Given the description of an element on the screen output the (x, y) to click on. 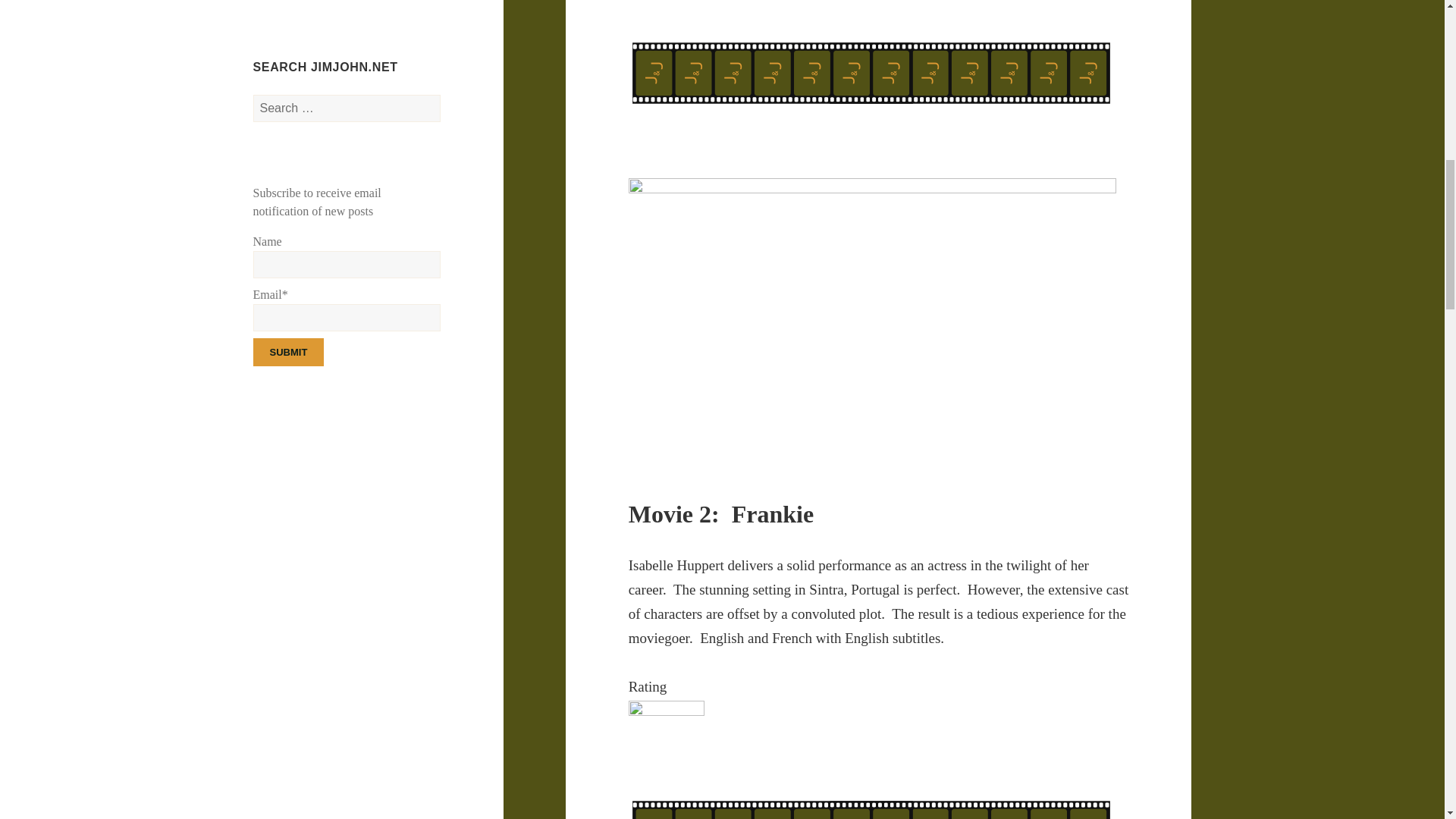
Submit (288, 352)
Submit (288, 352)
